Given the description of an element on the screen output the (x, y) to click on. 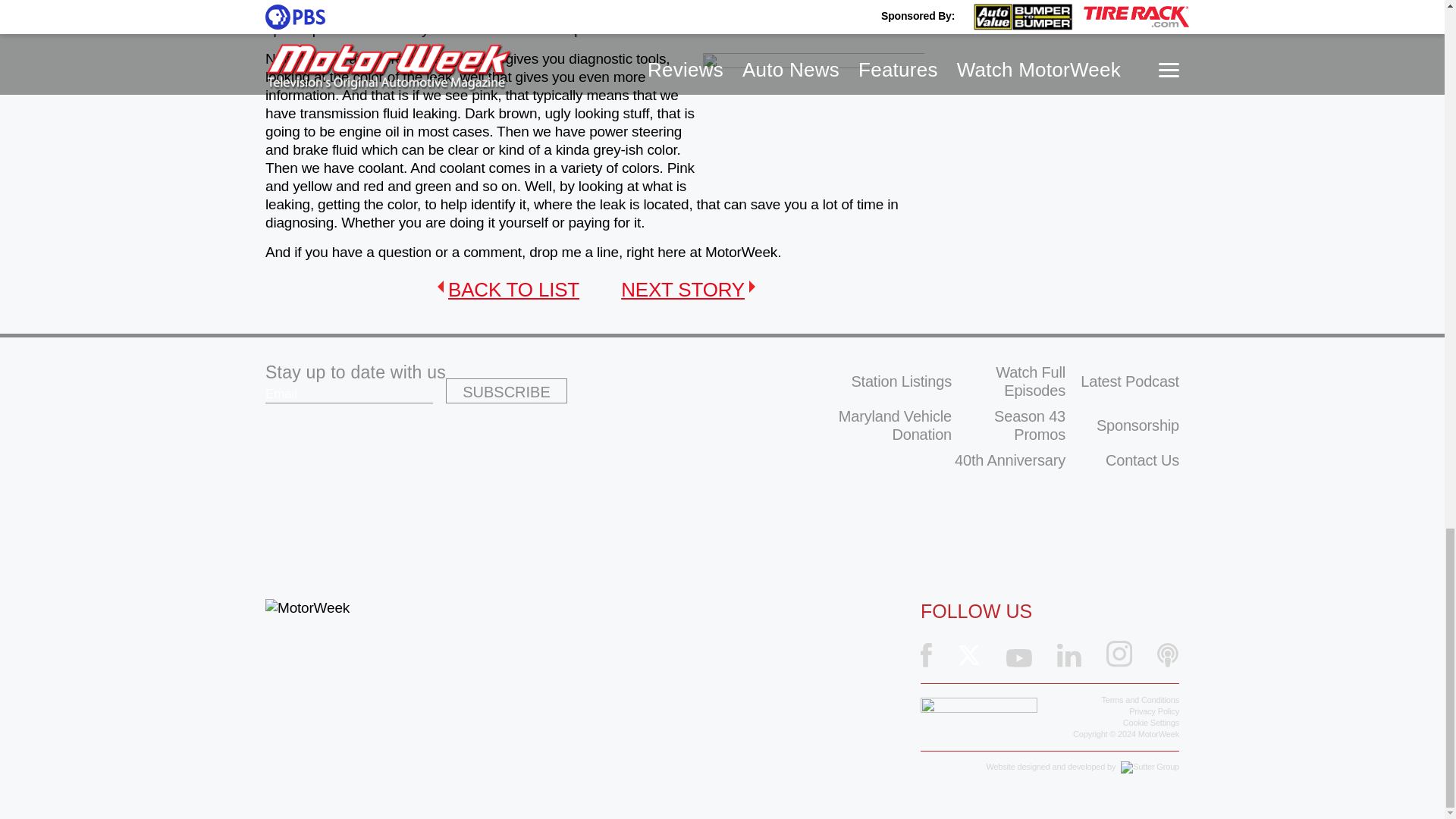
MotorWeek (306, 607)
BACK TO LIST (507, 289)
Subscribe (506, 390)
Sutter Group (1150, 767)
